Given the description of an element on the screen output the (x, y) to click on. 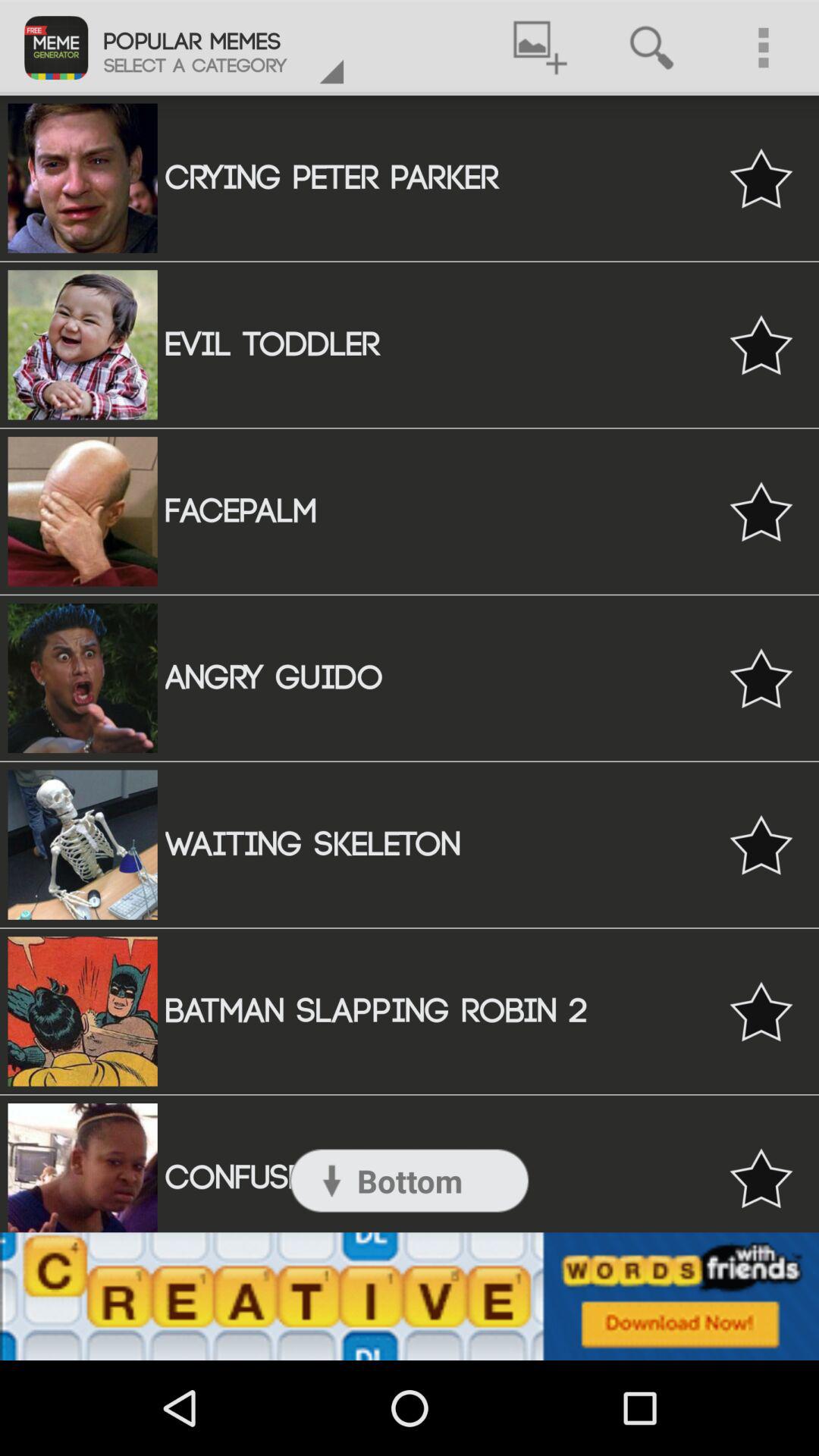
star save to favorites (761, 1011)
